Given the description of an element on the screen output the (x, y) to click on. 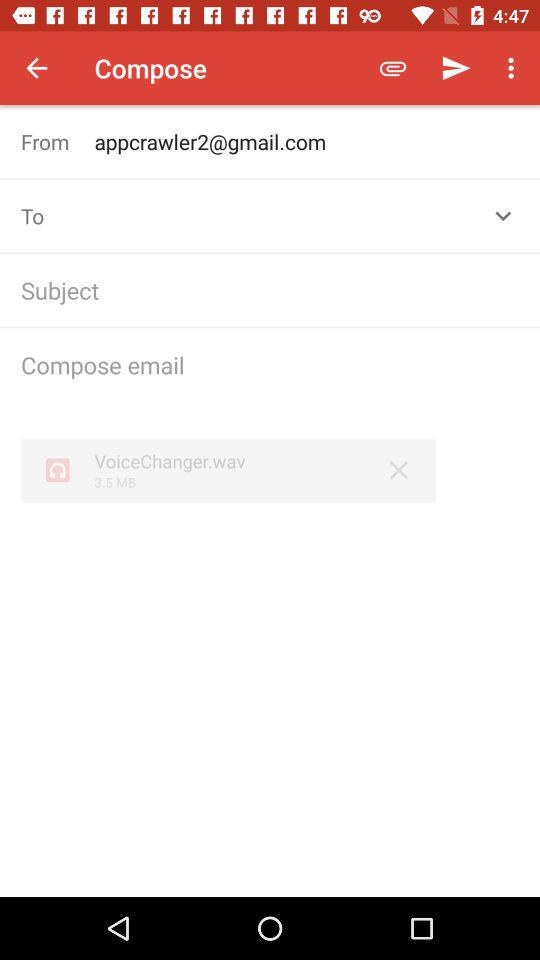
press icon above from (36, 68)
